Given the description of an element on the screen output the (x, y) to click on. 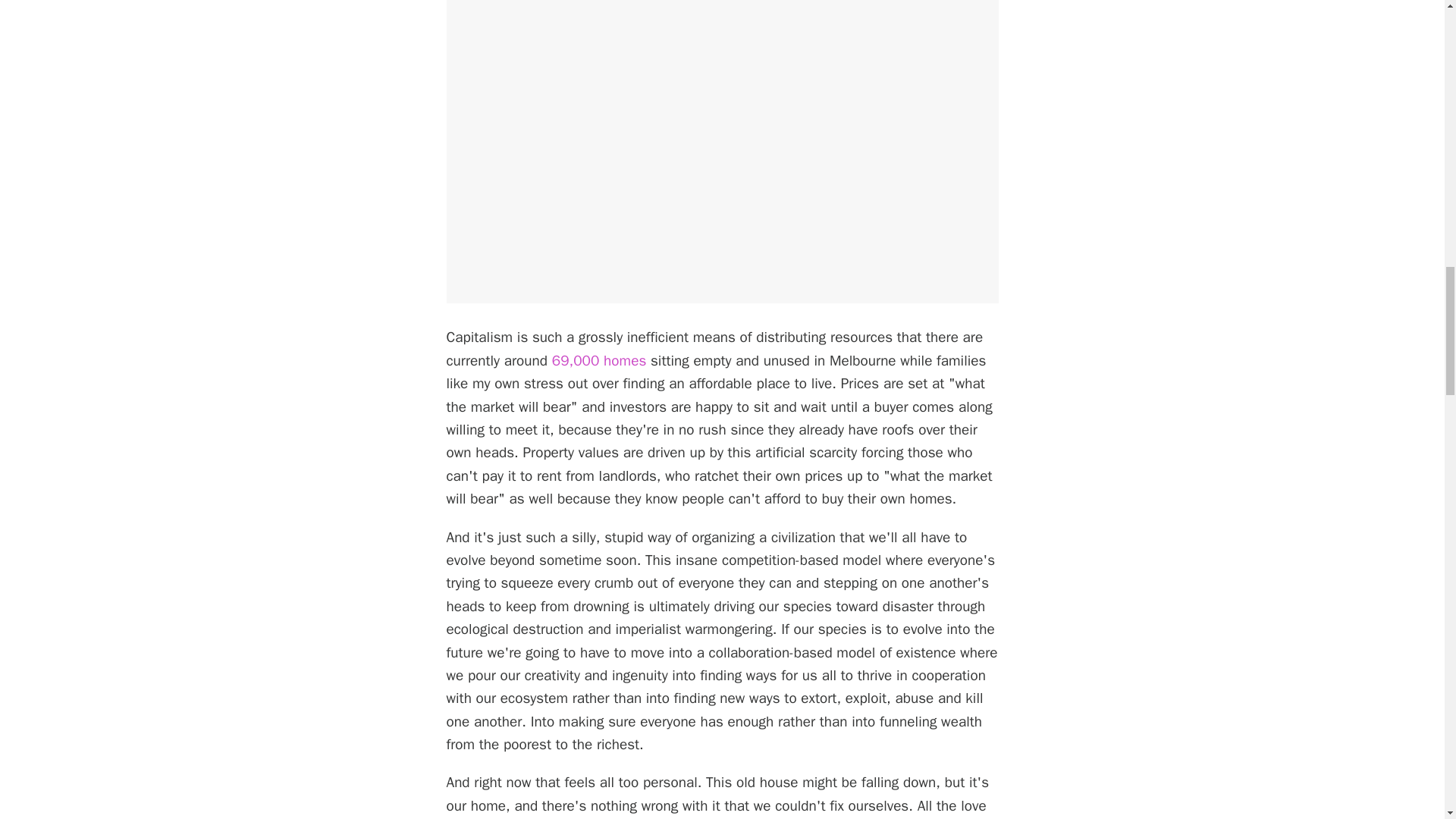
69,000 homes (598, 361)
